Given the description of an element on the screen output the (x, y) to click on. 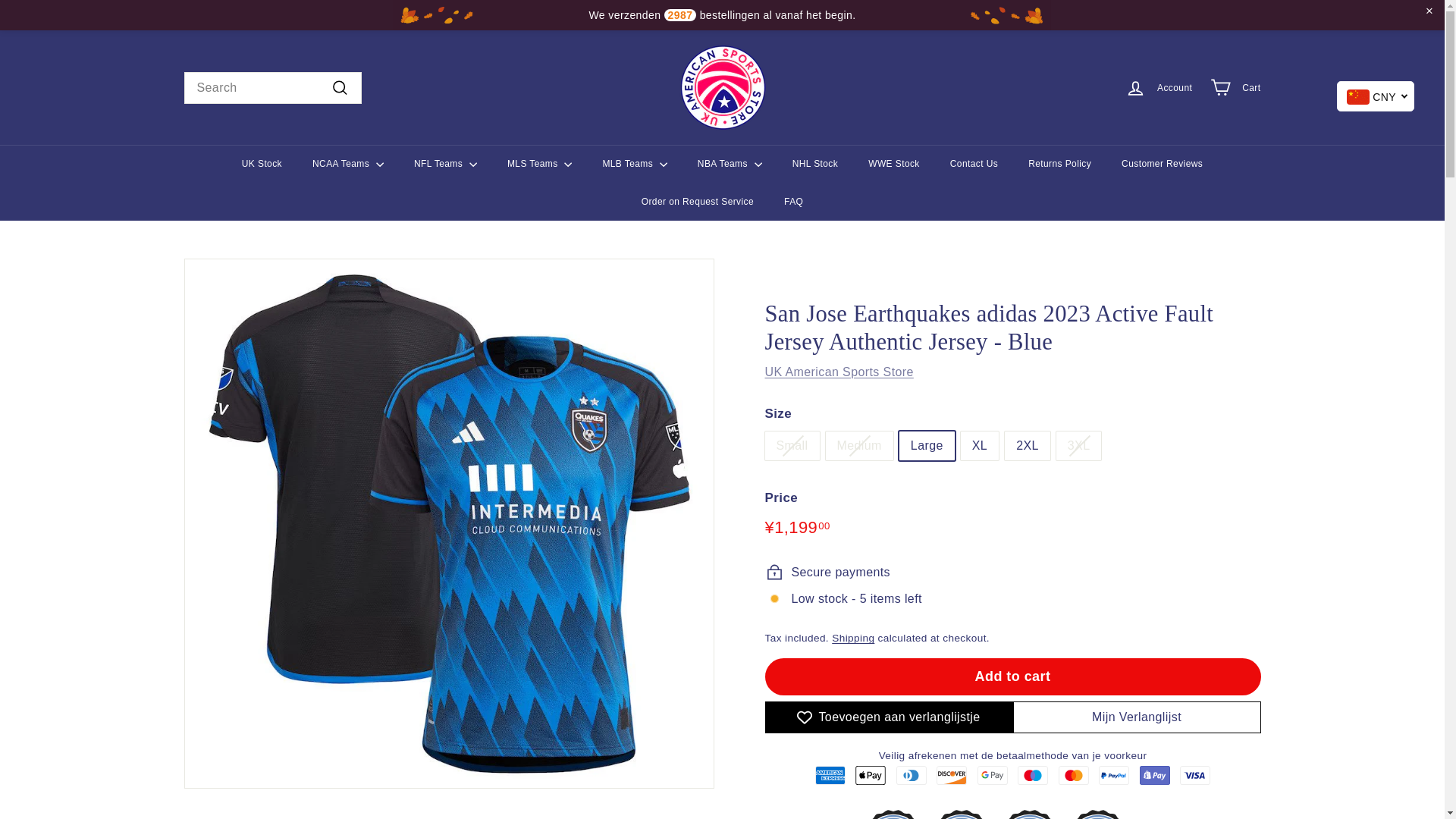
UK Stock (262, 163)
Cart (1235, 87)
Account (1158, 87)
UK American Sports Store (838, 371)
